Given the description of an element on the screen output the (x, y) to click on. 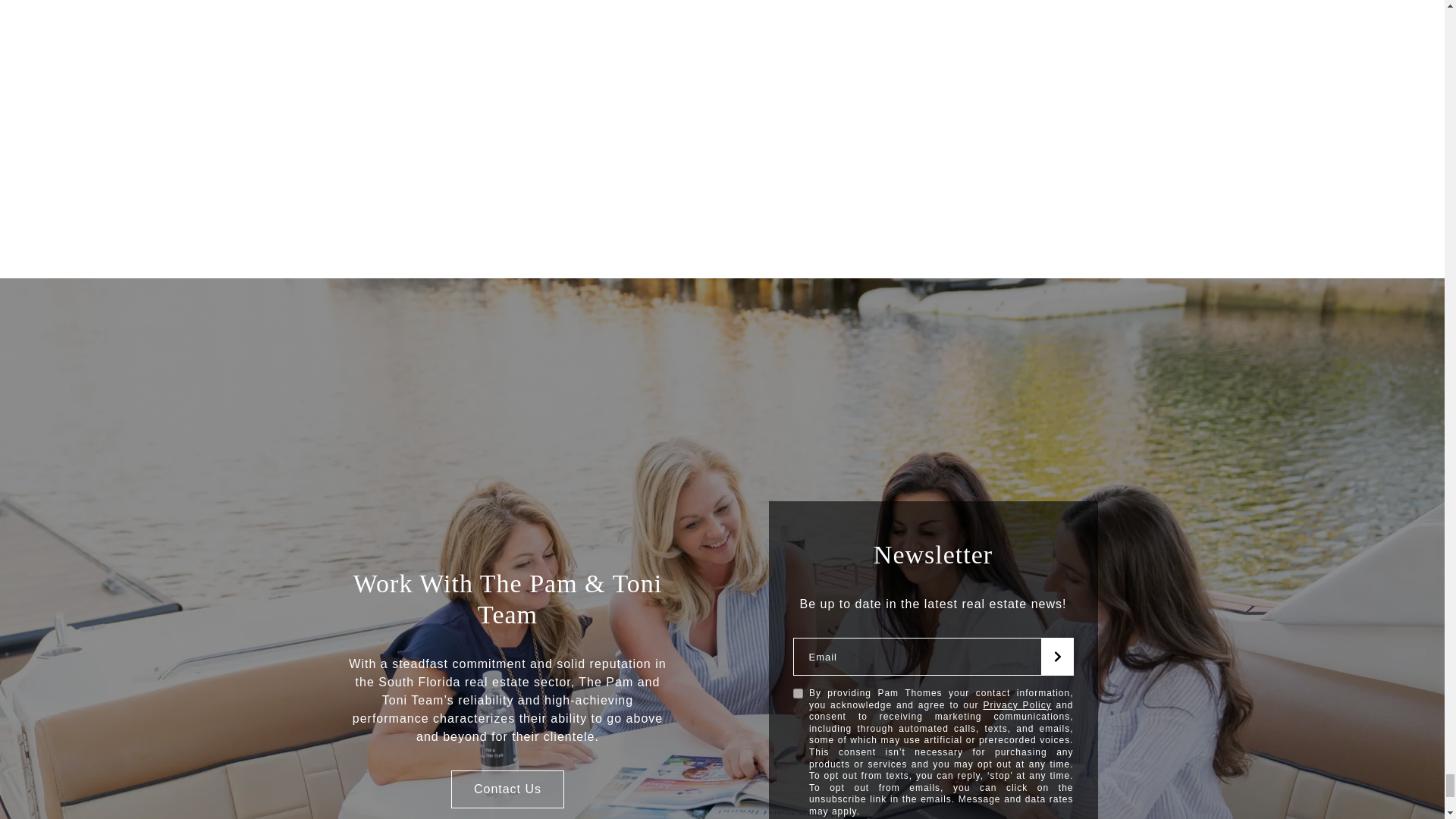
on (798, 693)
